Given the description of an element on the screen output the (x, y) to click on. 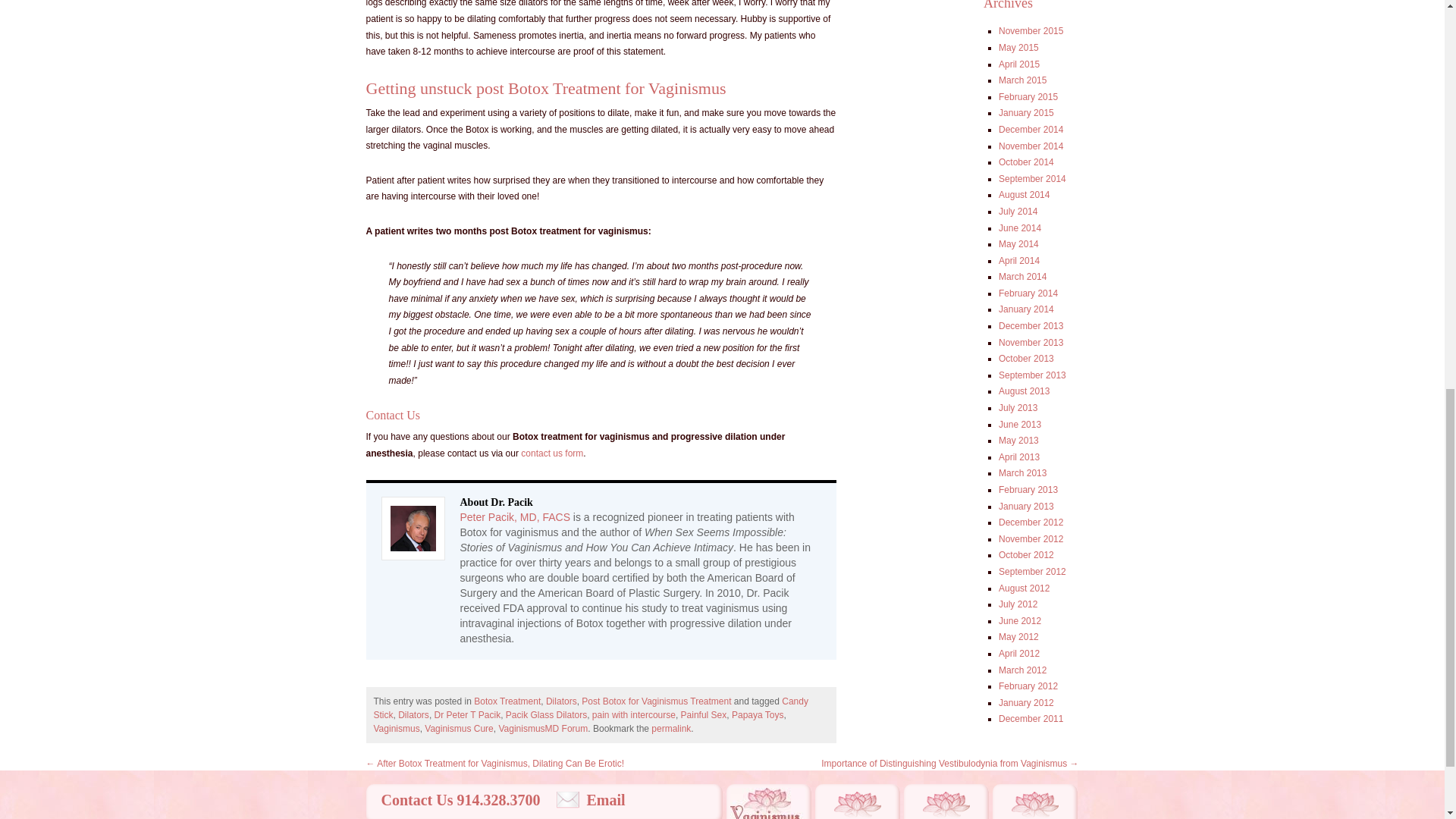
Contact Us at VaginismusMD (552, 452)
